Given the description of an element on the screen output the (x, y) to click on. 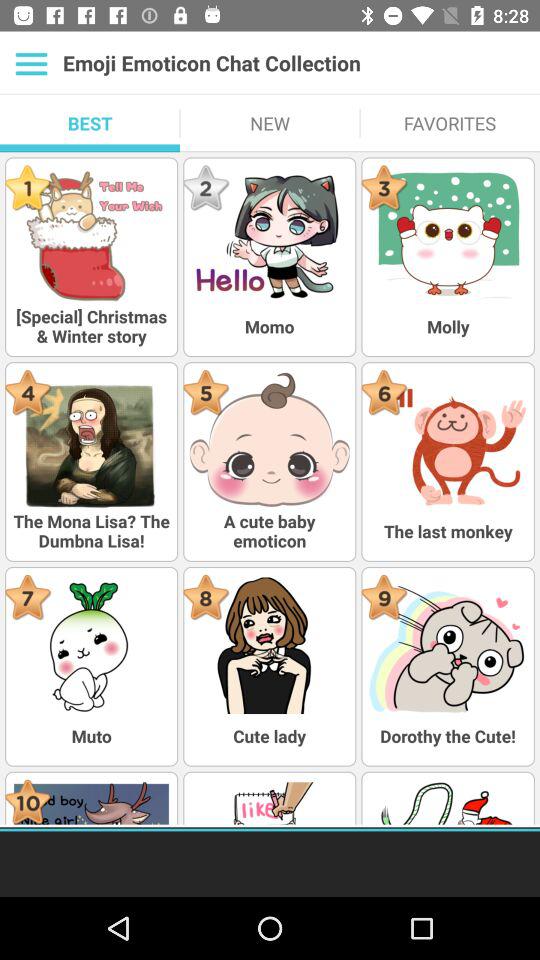
turn on the best icon (90, 123)
